Given the description of an element on the screen output the (x, y) to click on. 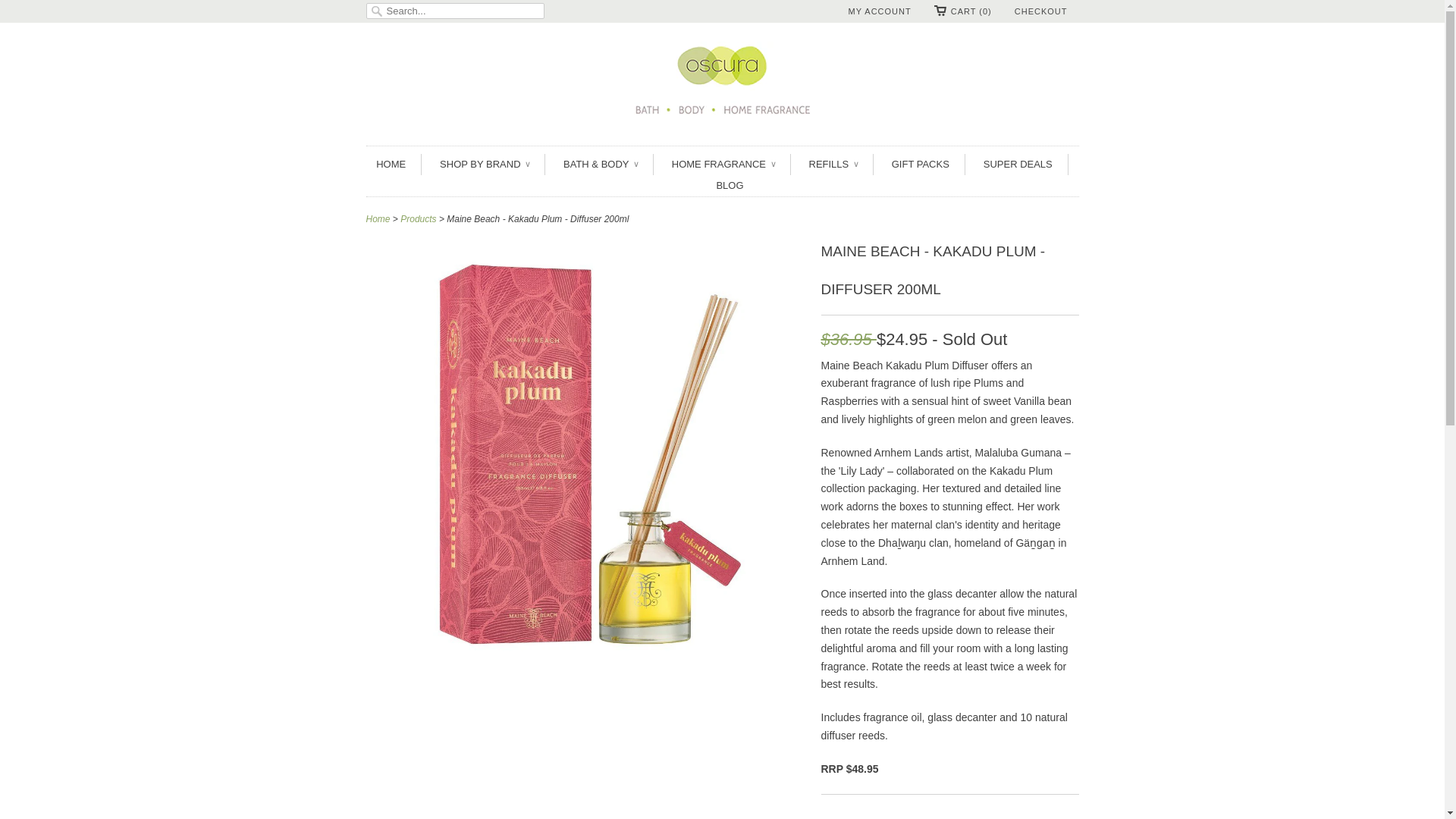
My Account (879, 11)
Shop By Brand (484, 164)
CHECKOUT (1040, 11)
Home (390, 164)
HOME (390, 164)
Checkout (1040, 11)
Shopping Cart (962, 11)
MY ACCOUNT (879, 11)
